Given the description of an element on the screen output the (x, y) to click on. 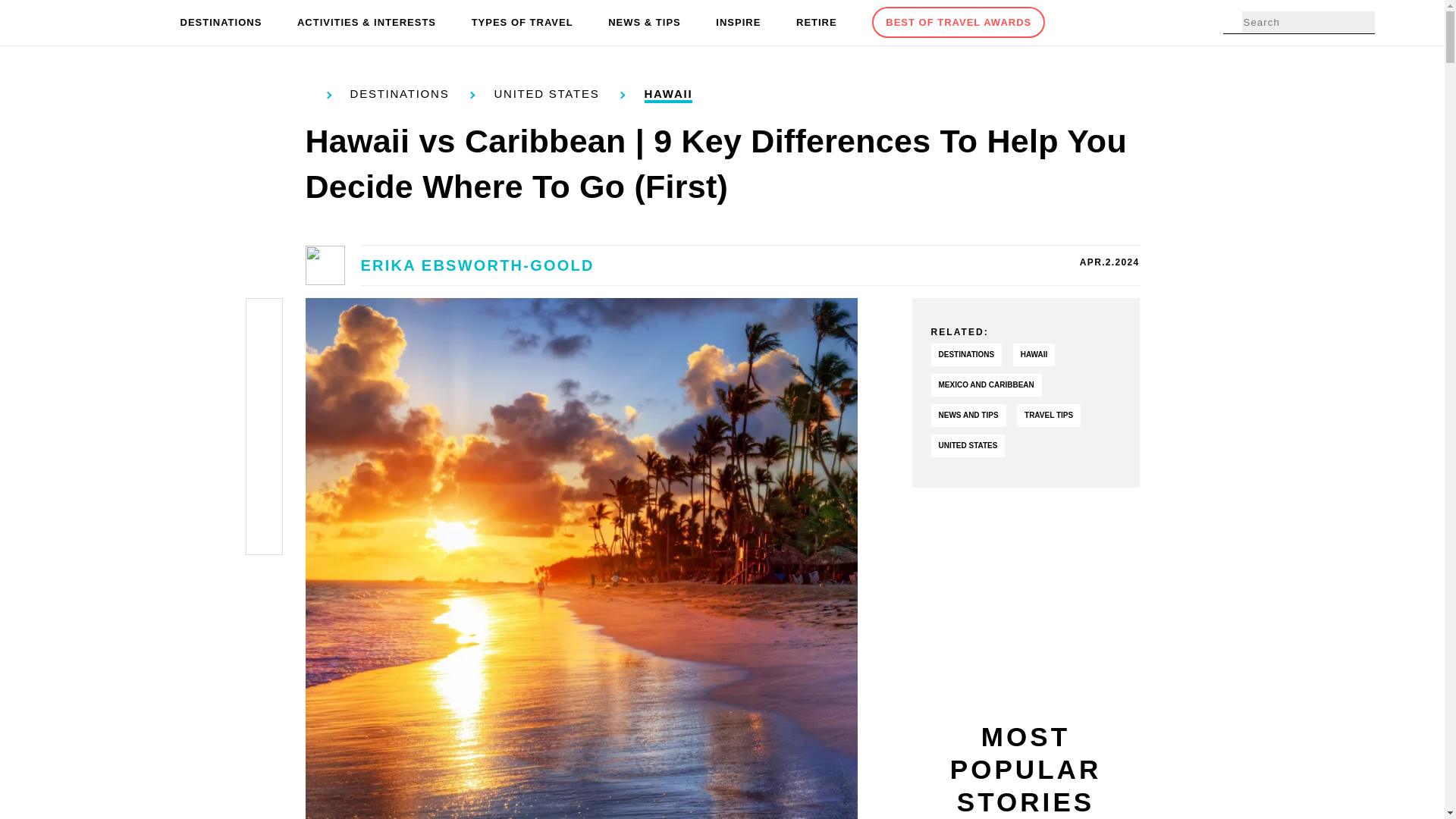
Email (263, 533)
Facebook (263, 320)
Pinterest (263, 391)
Twitter (263, 355)
Instagram (263, 426)
TravelAwaits (107, 22)
TYPES OF TRAVEL (522, 22)
Print (263, 497)
DESTINATIONS (221, 22)
Flipboard (263, 462)
